Given the description of an element on the screen output the (x, y) to click on. 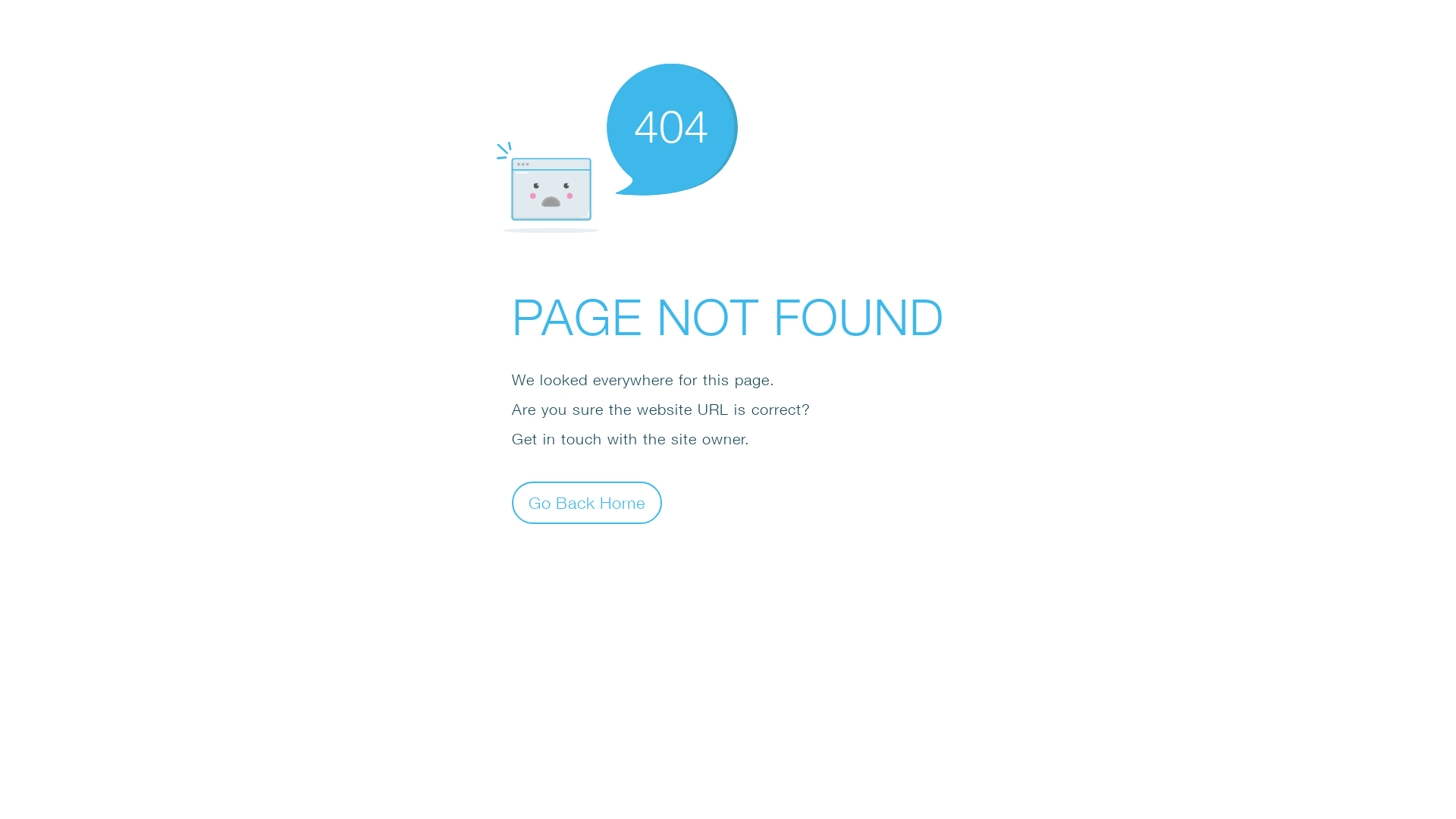
Go Back Home Element type: text (586, 502)
